Given the description of an element on the screen output the (x, y) to click on. 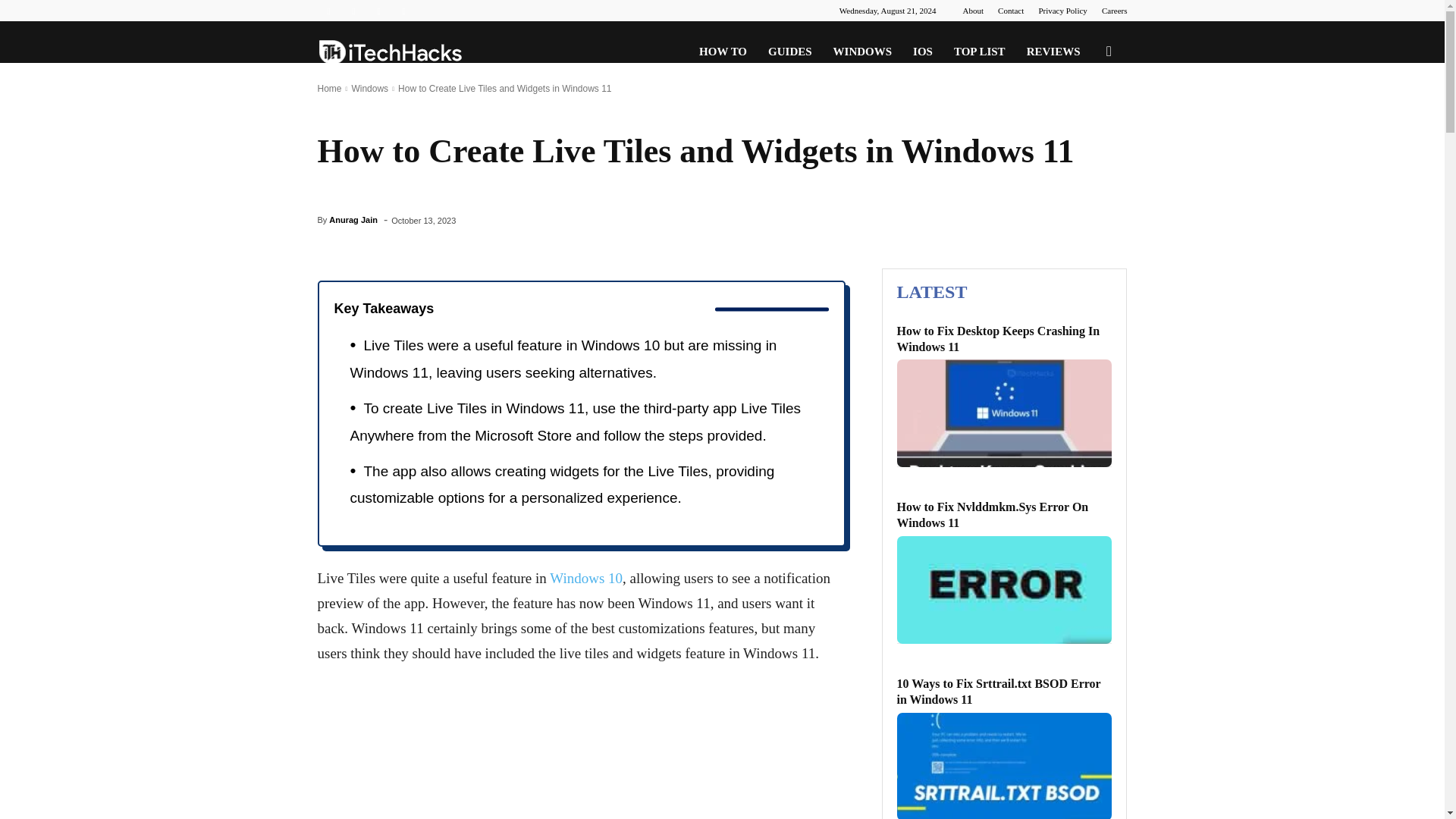
Advertisement (579, 752)
iTech Hacks (390, 51)
Careers (1114, 10)
Windows 10 (586, 578)
Search (1085, 124)
Contact (1010, 10)
Anurag Jain (353, 219)
About (973, 10)
Windows (369, 88)
Privacy Policy (1062, 10)
